Given the description of an element on the screen output the (x, y) to click on. 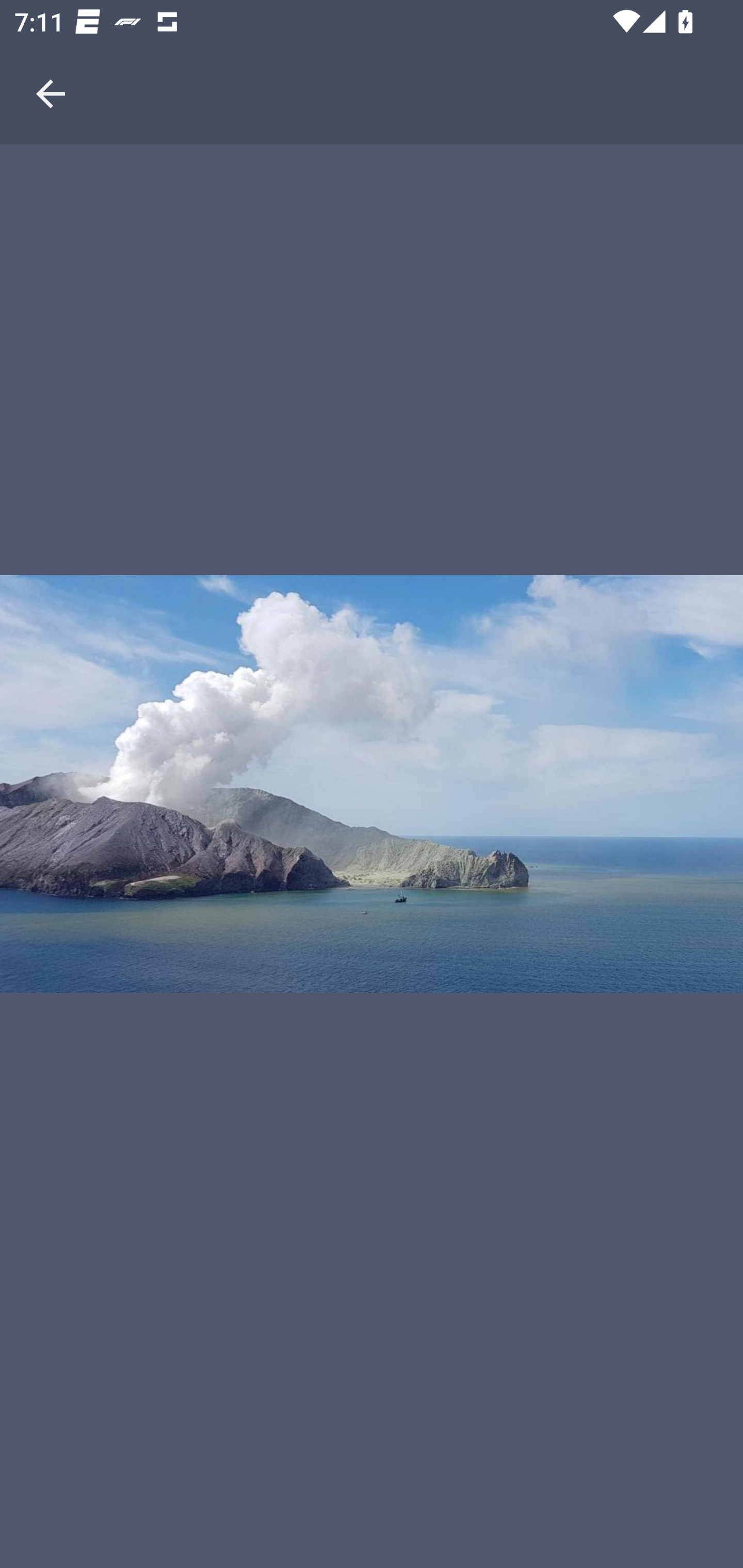
Back (50, 72)
